Given the description of an element on the screen output the (x, y) to click on. 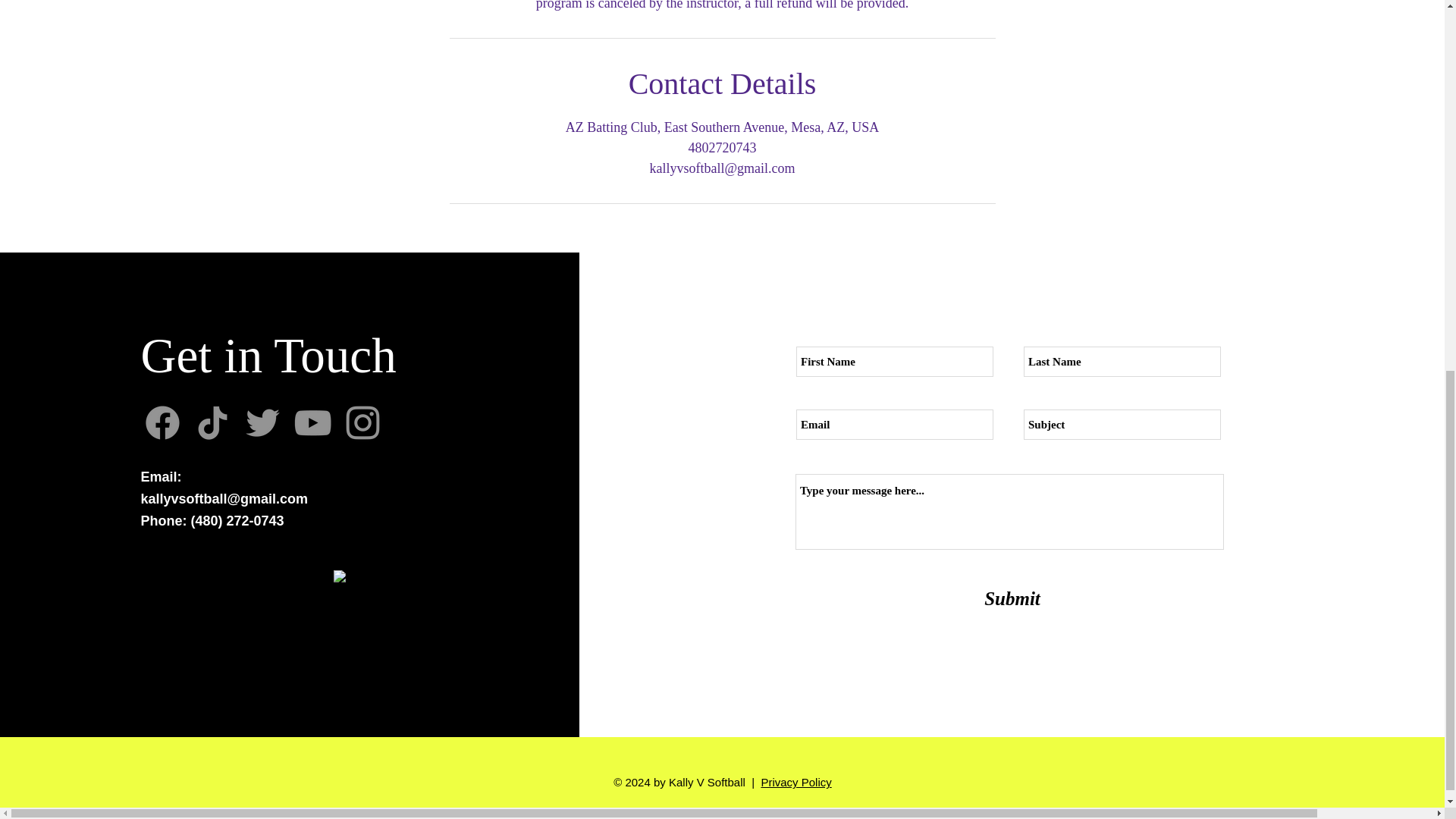
Submit (1012, 598)
Privacy Policy (795, 781)
